Given the description of an element on the screen output the (x, y) to click on. 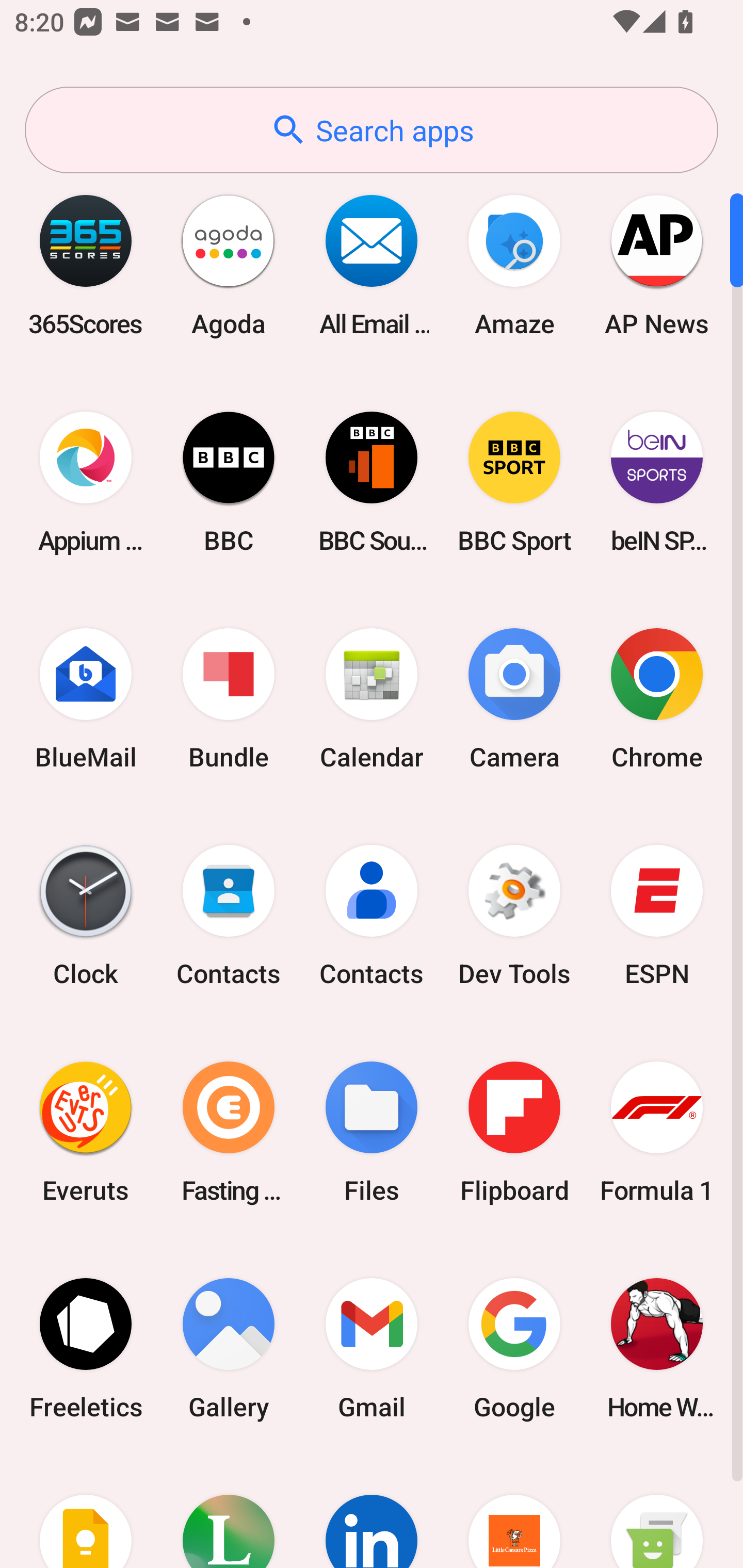
  Search apps (371, 130)
365Scores (85, 264)
Agoda (228, 264)
All Email Connect (371, 264)
Amaze (514, 264)
AP News (656, 264)
Appium Settings (85, 482)
BBC (228, 482)
BBC Sounds (371, 482)
BBC Sport (514, 482)
beIN SPORTS (656, 482)
BlueMail (85, 699)
Bundle (228, 699)
Calendar (371, 699)
Camera (514, 699)
Chrome (656, 699)
Clock (85, 915)
Contacts (228, 915)
Contacts (371, 915)
Dev Tools (514, 915)
ESPN (656, 915)
Everuts (85, 1131)
Fasting Coach (228, 1131)
Files (371, 1131)
Flipboard (514, 1131)
Formula 1 (656, 1131)
Freeletics (85, 1348)
Gallery (228, 1348)
Gmail (371, 1348)
Google (514, 1348)
Home Workout (656, 1348)
Keep Notes (85, 1512)
Lifesum (228, 1512)
LinkedIn (371, 1512)
Little Caesars Pizza (514, 1512)
Messaging (656, 1512)
